Given the description of an element on the screen output the (x, y) to click on. 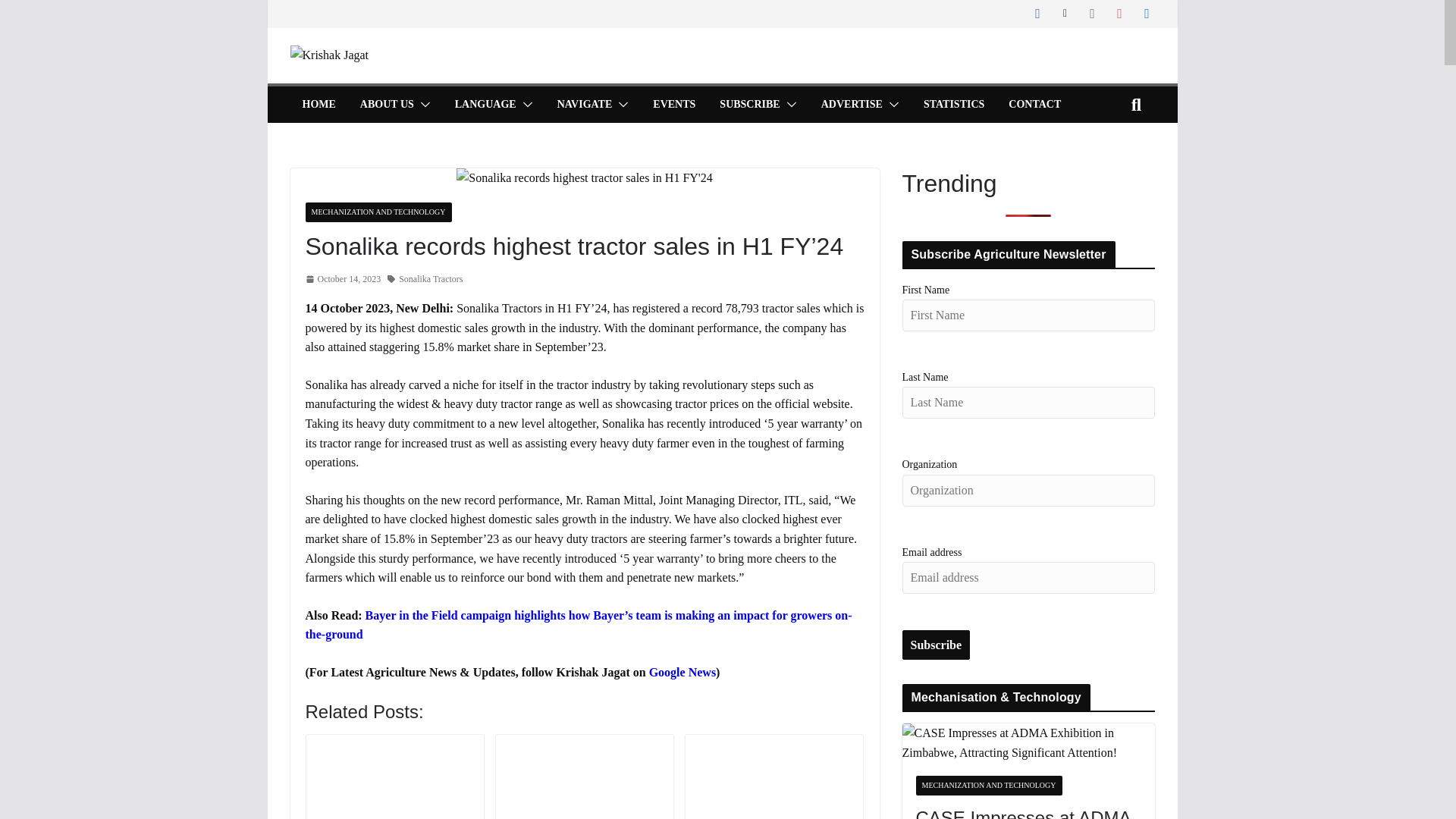
NAVIGATE (584, 104)
LANGUAGE (485, 104)
ADVERTISE (851, 104)
Subscribe (936, 644)
HOME (317, 104)
4:14 pm (342, 278)
Sonalika Tractors crosses 1 lakh sales mark (774, 778)
ABOUT US (386, 104)
EVENTS (673, 104)
SUBSCRIBE (748, 104)
